Given the description of an element on the screen output the (x, y) to click on. 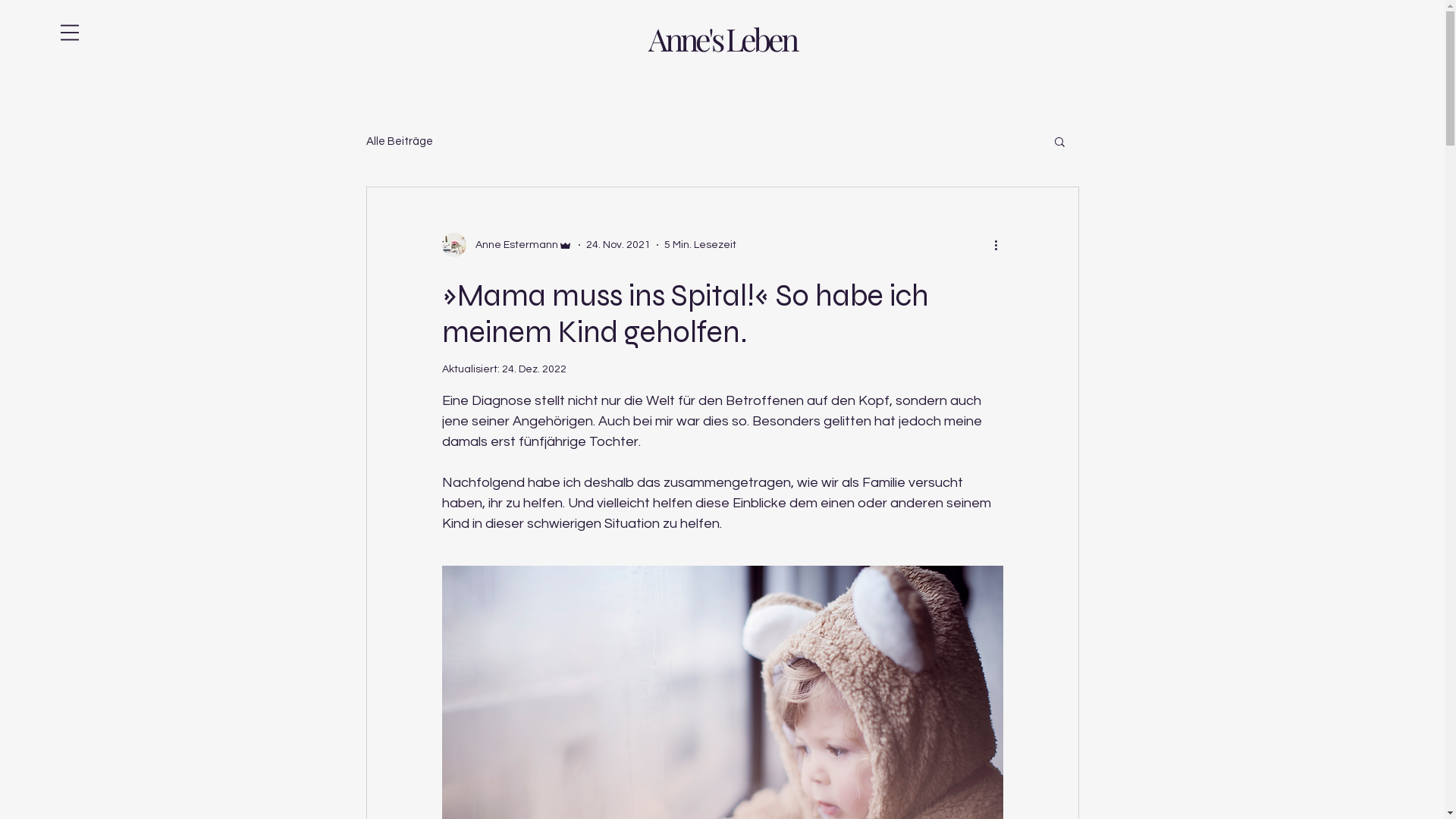
Anne Estermann Element type: text (506, 244)
Anne's Leben Element type: text (722, 38)
